Given the description of an element on the screen output the (x, y) to click on. 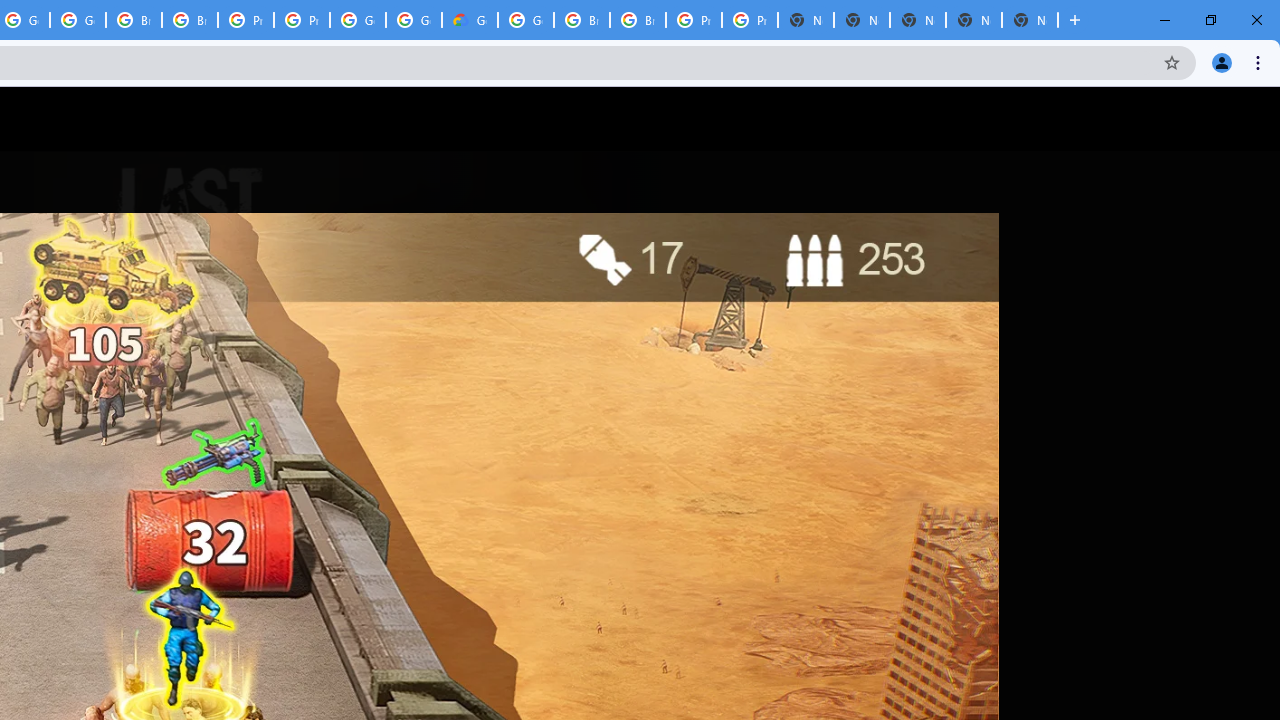
Browse Chrome as a guest - Computer - Google Chrome Help (582, 20)
Google Cloud Platform (525, 20)
Browse Chrome as a guest - Computer - Google Chrome Help (134, 20)
Google Cloud Platform (358, 20)
New Tab (1030, 20)
